Given the description of an element on the screen output the (x, y) to click on. 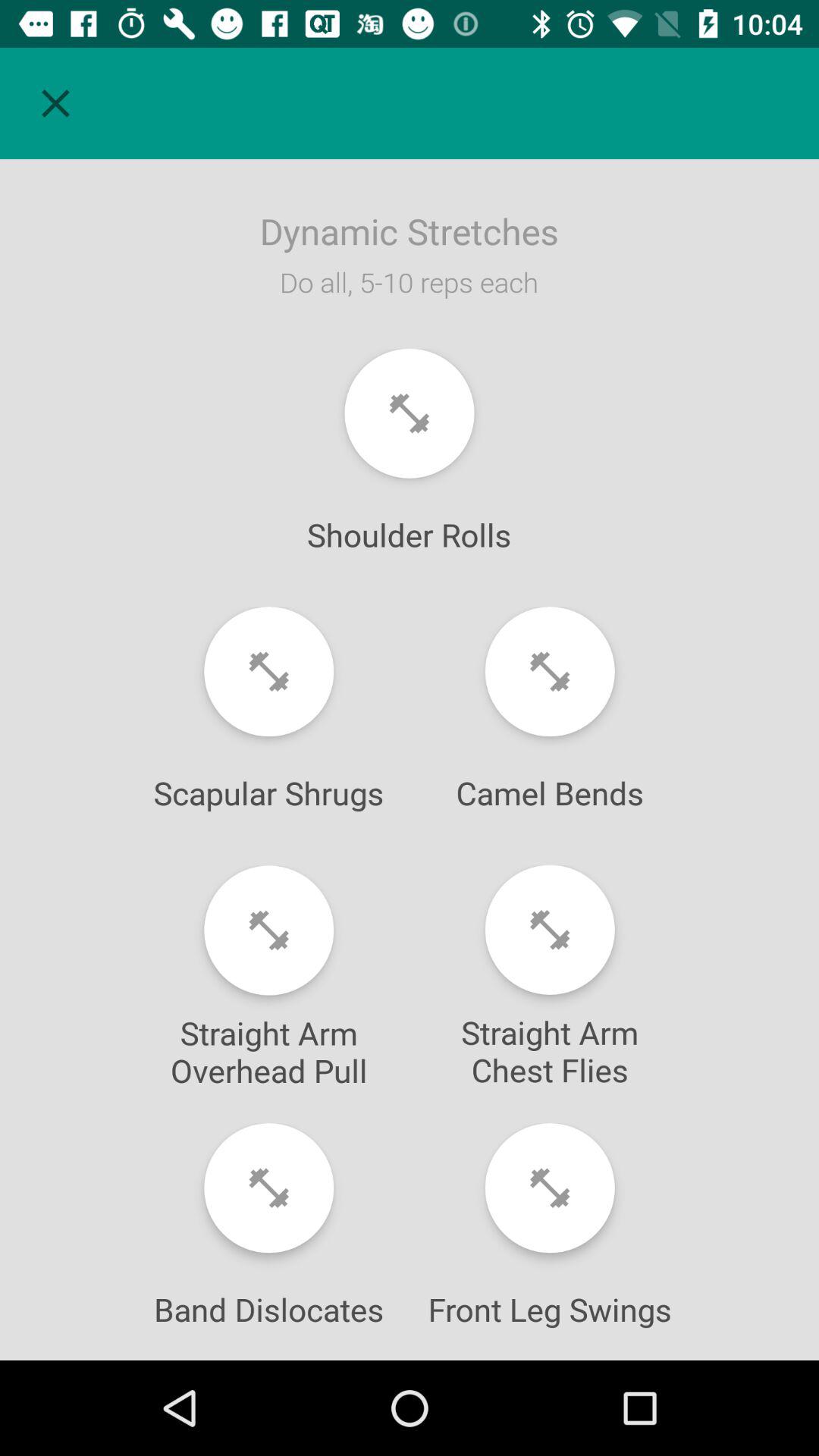
add number of sets for this exercise (549, 929)
